Given the description of an element on the screen output the (x, y) to click on. 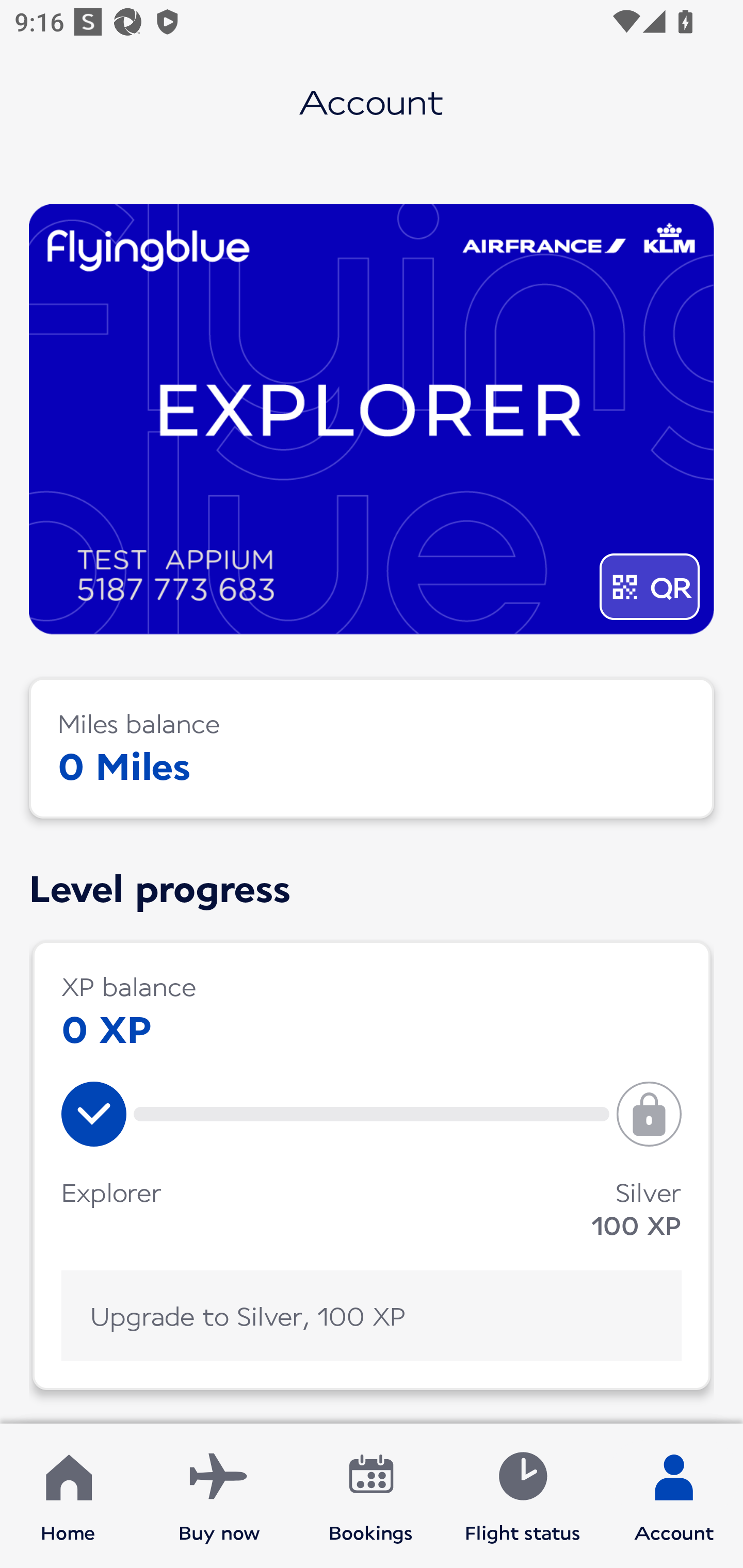
Miles balance 0 Miles (371, 747)
Home (68, 1495)
Buy now (219, 1495)
Bookings (370, 1495)
Flight status (522, 1495)
